Given the description of an element on the screen output the (x, y) to click on. 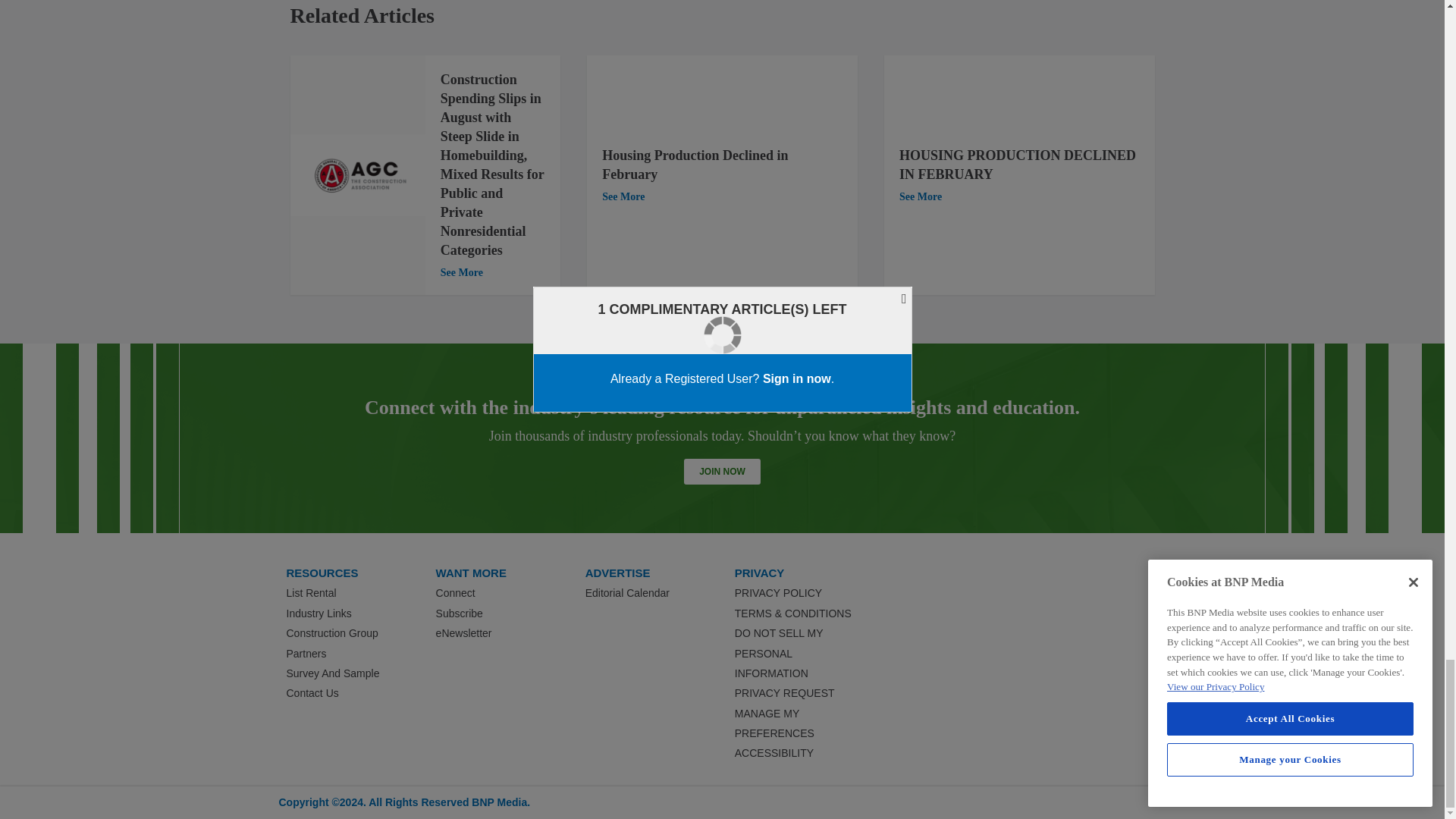
AGC logo (357, 175)
